Given the description of an element on the screen output the (x, y) to click on. 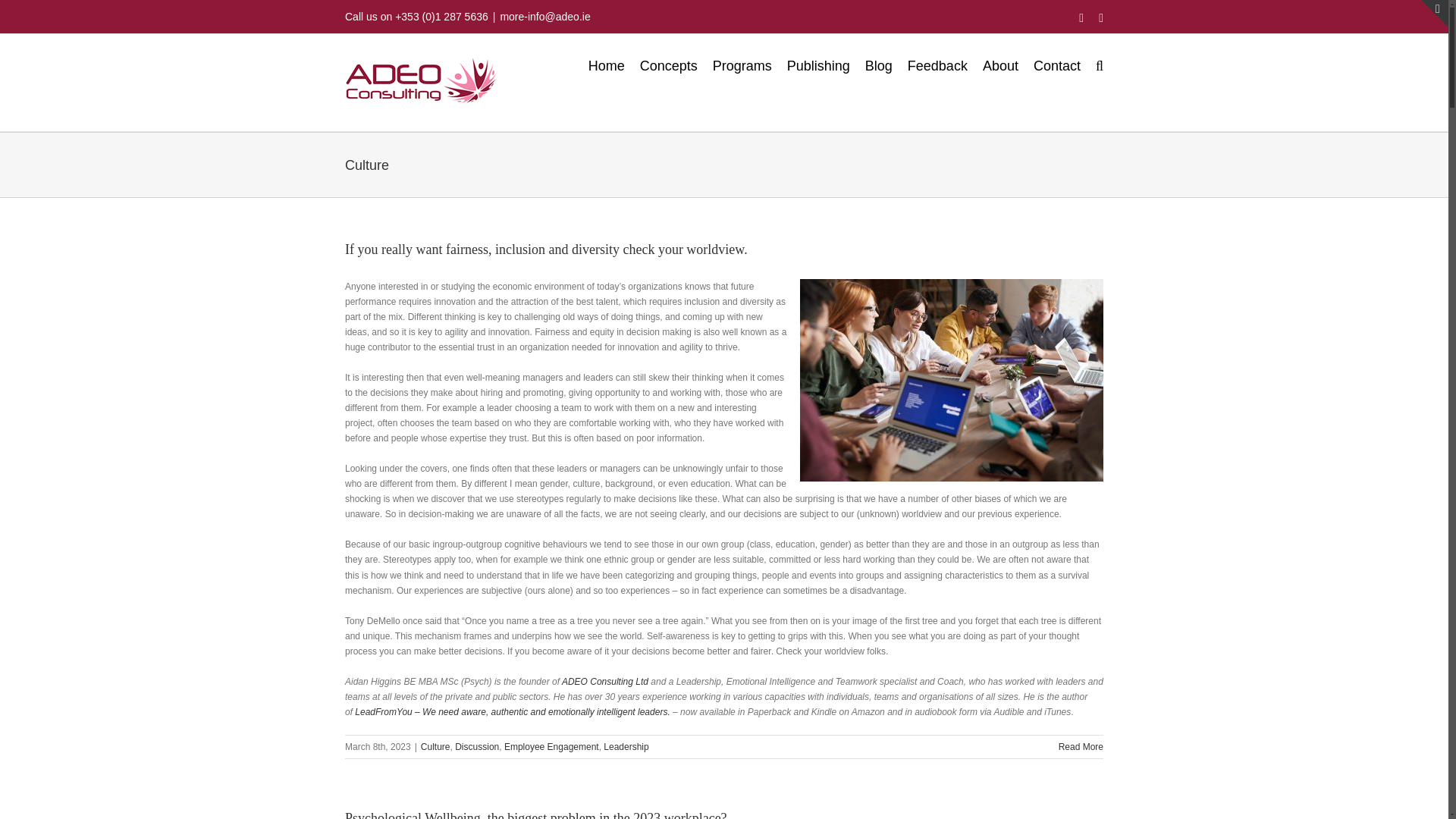
Publishing (818, 65)
Concepts (668, 65)
Feedback (937, 65)
Blog (878, 65)
About (999, 65)
Contact (1056, 65)
Search (1099, 65)
X (1101, 18)
Home (606, 65)
Programs (742, 65)
Facebook (1080, 18)
